Given the description of an element on the screen output the (x, y) to click on. 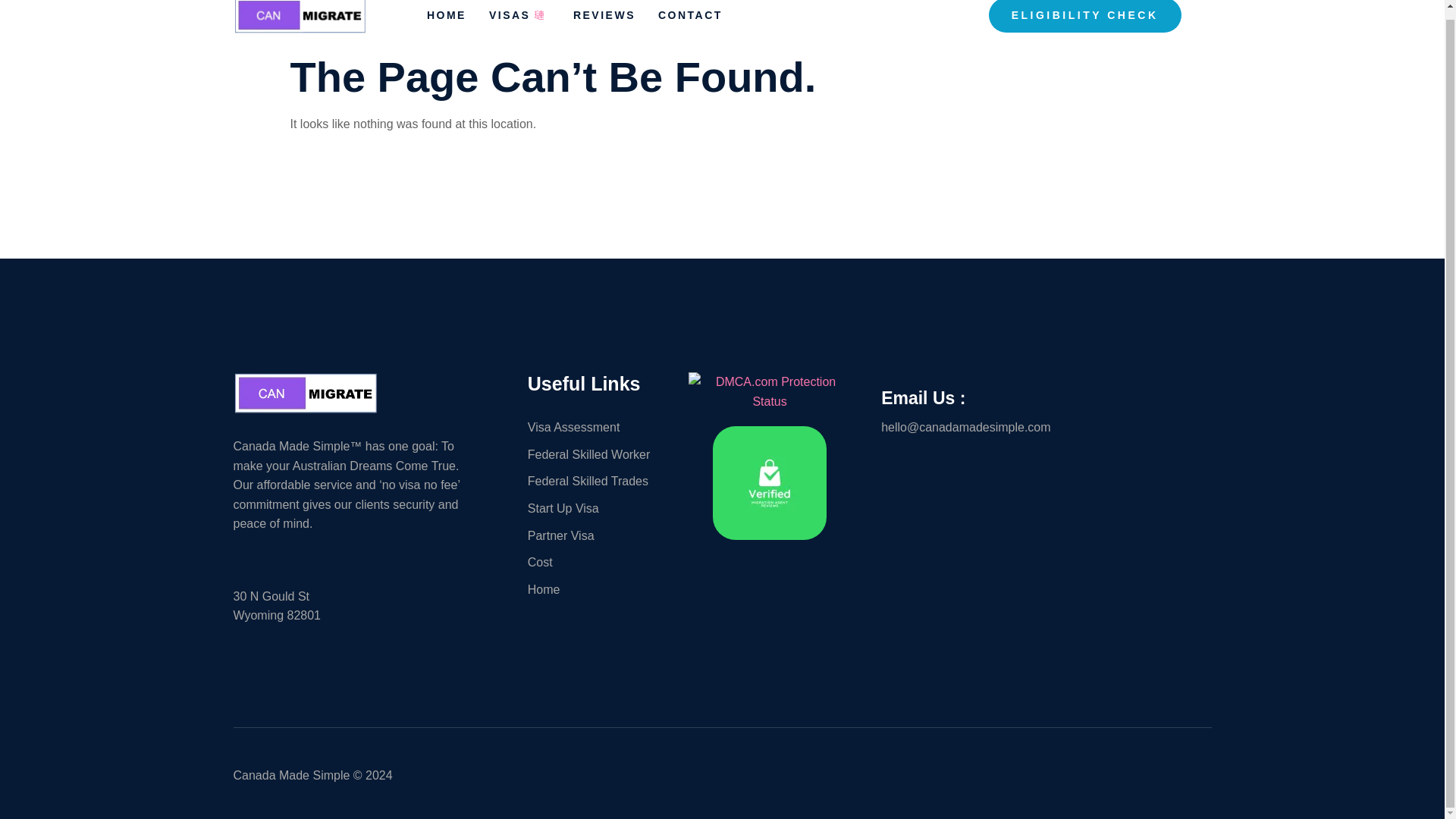
DMCA.com Protection Status (769, 400)
Partner Visa (599, 536)
CONTACT (701, 22)
HOME (457, 22)
Federal Skilled Worker (599, 455)
Start Up Visa (599, 508)
Federal Skilled Trades (599, 481)
Home (599, 589)
ELIGIBILITY CHECK (1084, 16)
REVIEWS (615, 22)
